Given the description of an element on the screen output the (x, y) to click on. 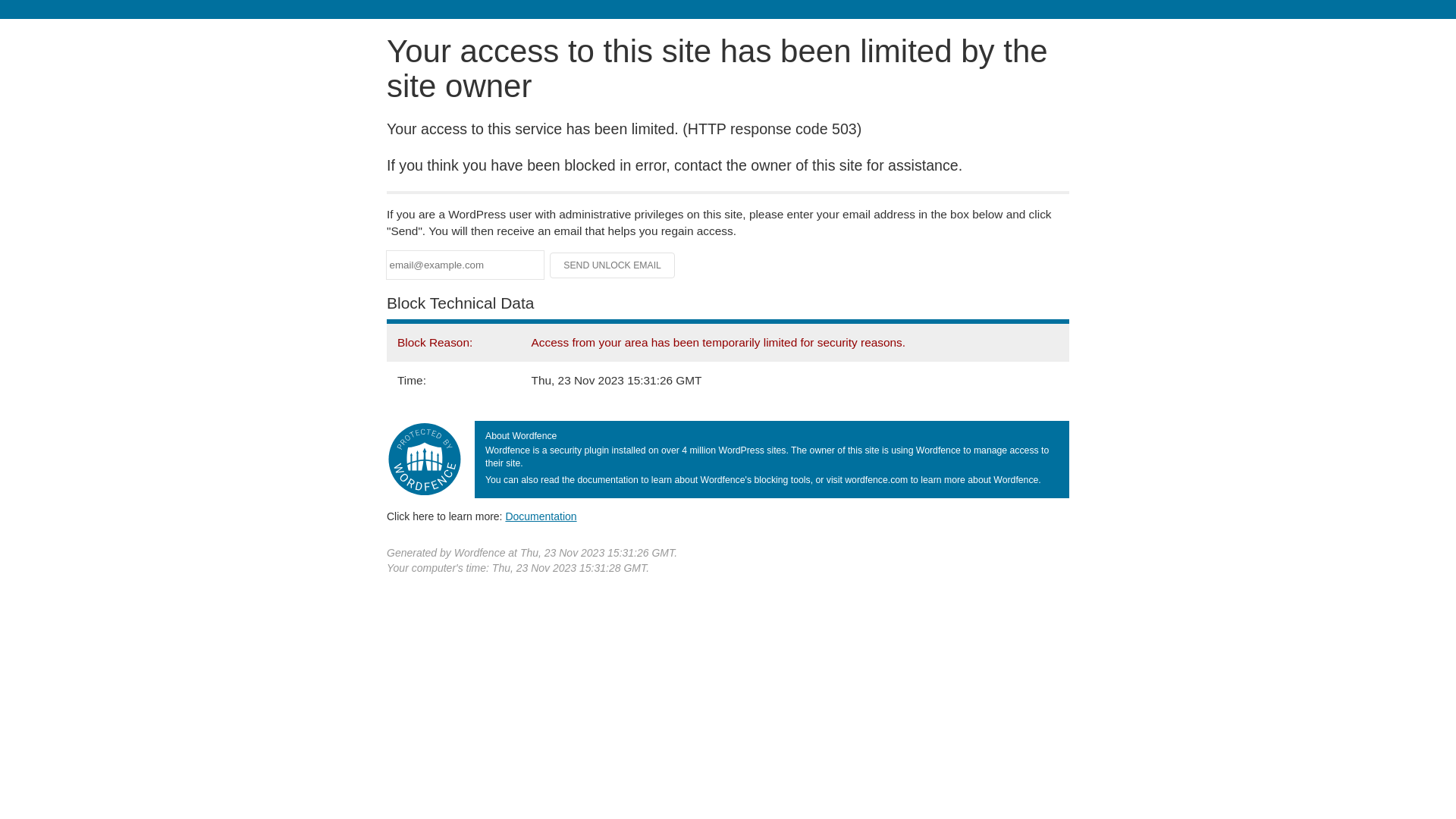
Send Unlock Email Element type: text (612, 265)
Documentation Element type: text (540, 516)
